Given the description of an element on the screen output the (x, y) to click on. 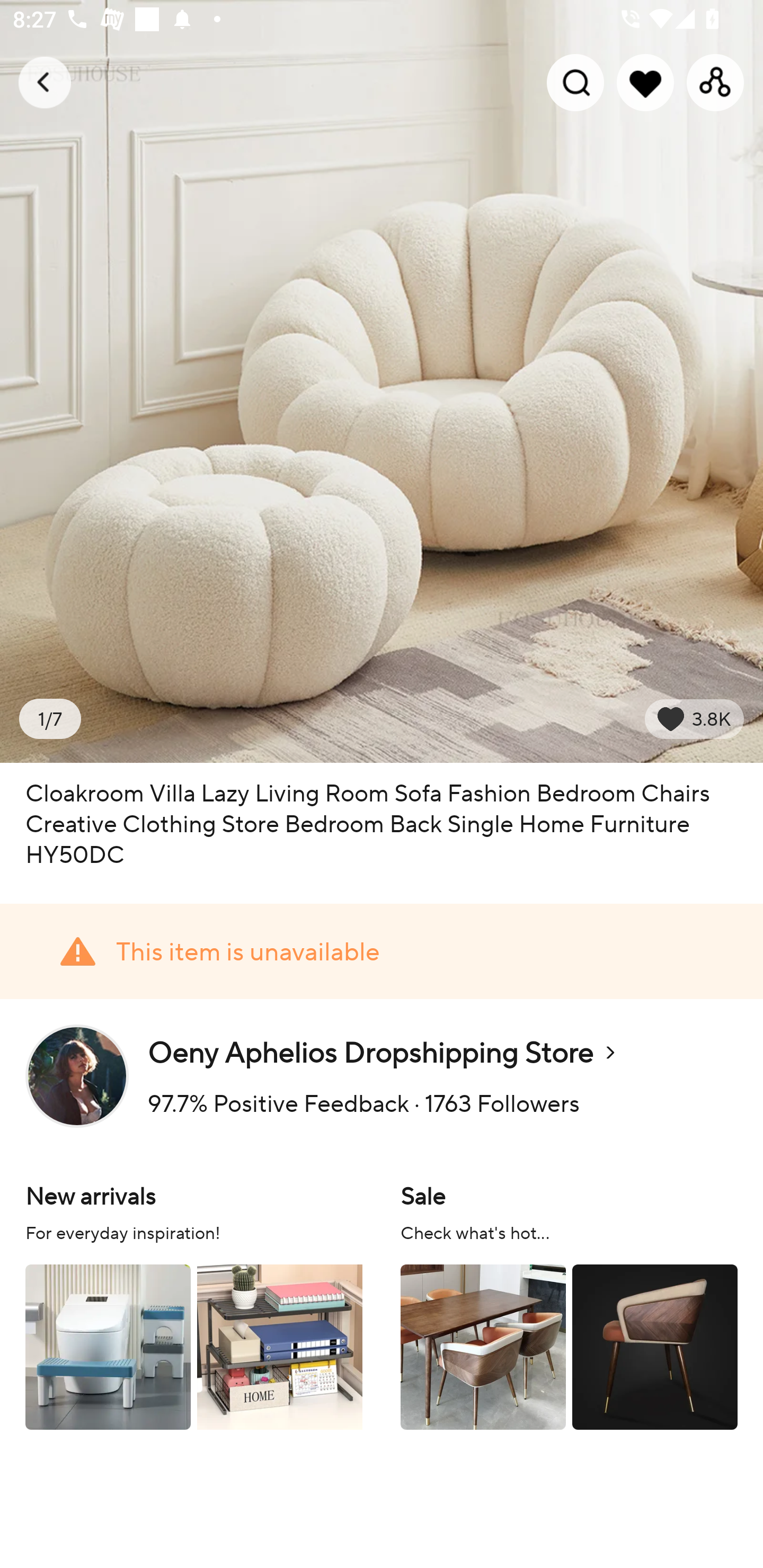
Navigate up (44, 82)
wish state 3.8K (693, 718)
New arrivals For everyday inspiration!  (193, 1304)
Sale Check what's hot... (568, 1304)
